Given the description of an element on the screen output the (x, y) to click on. 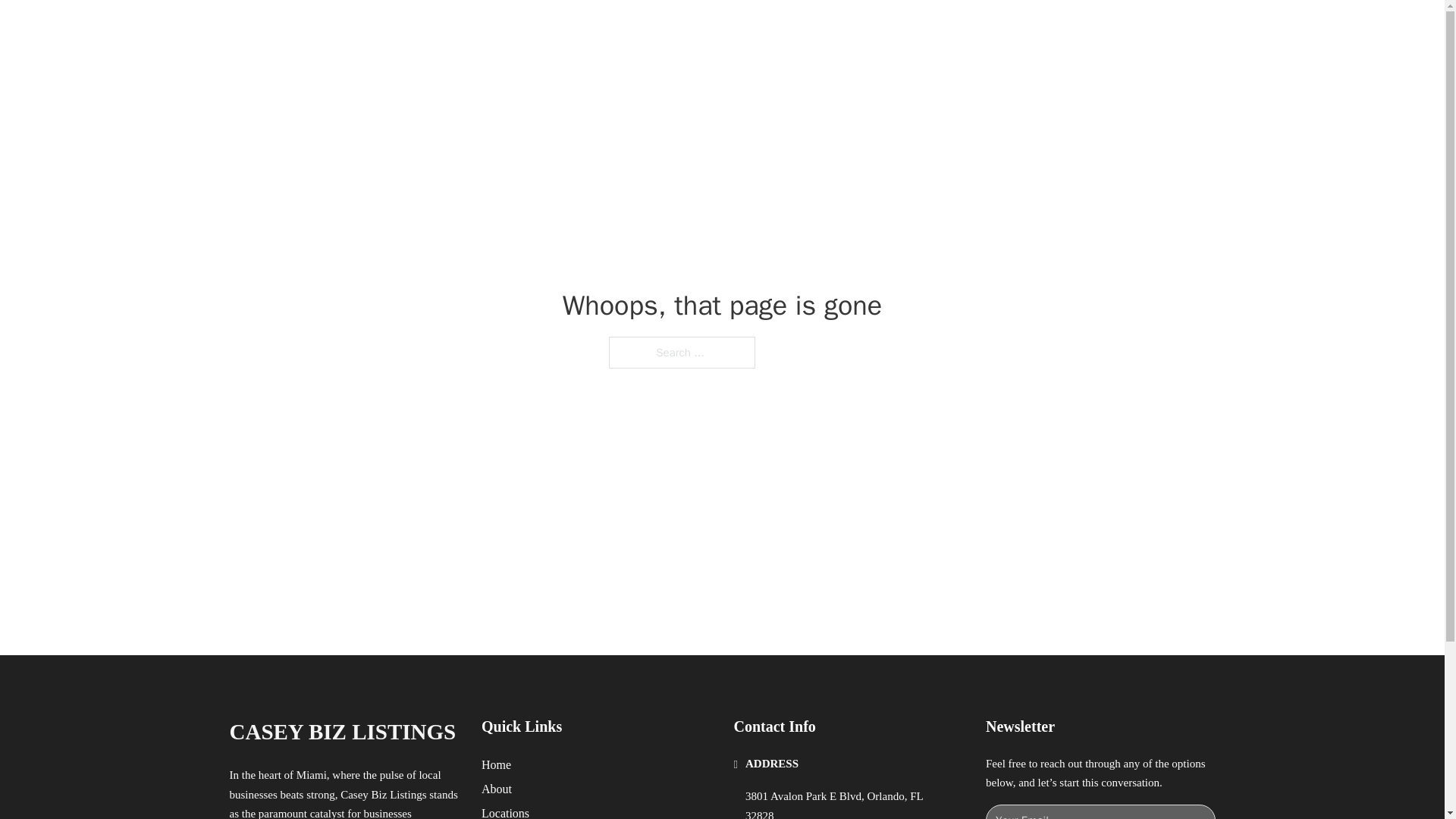
CASEY BIZ LISTINGS (411, 28)
CASEY BIZ LISTINGS (341, 732)
Home (496, 764)
Locations (505, 811)
About (496, 788)
